Given the description of an element on the screen output the (x, y) to click on. 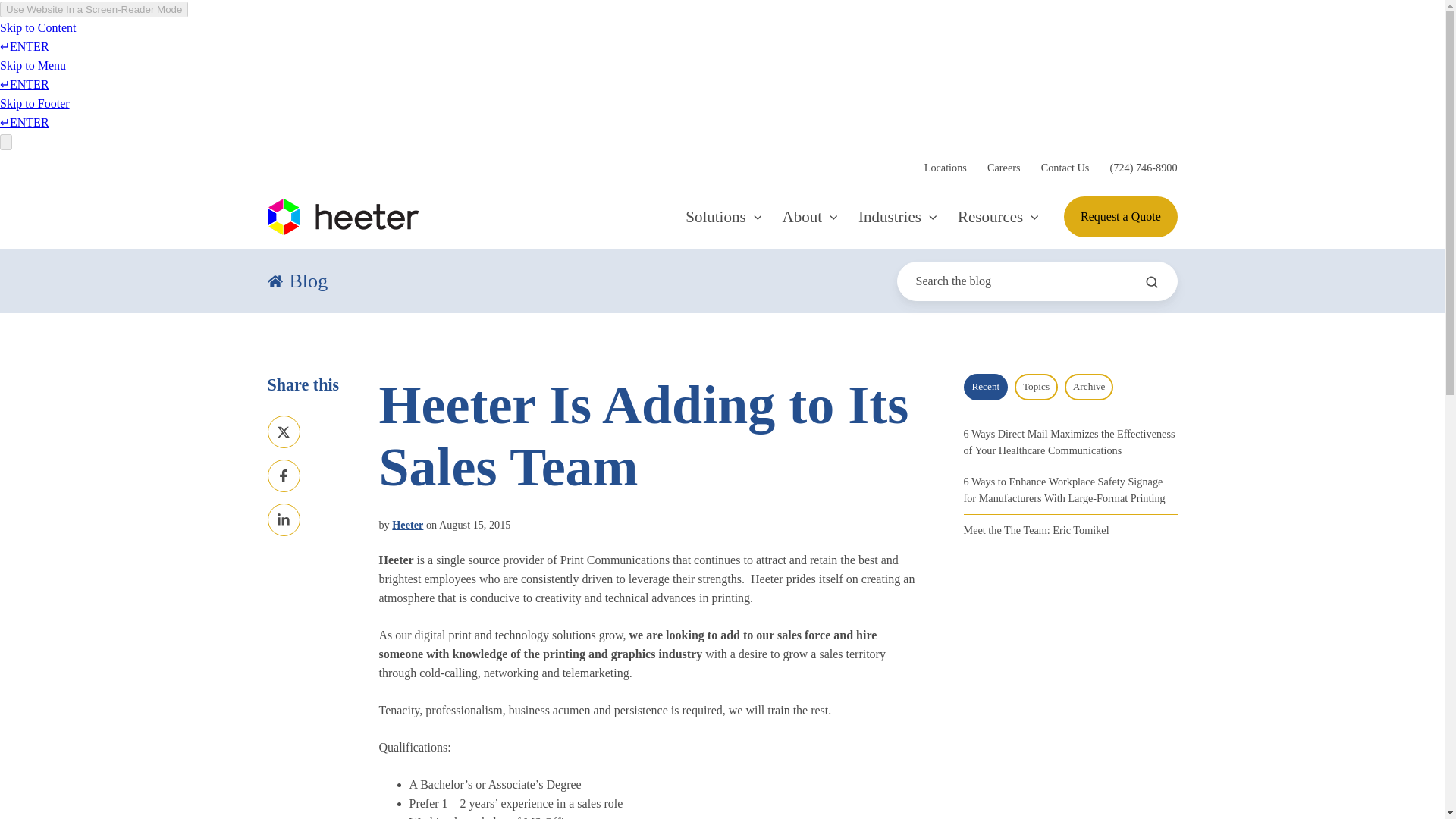
Heeter (342, 217)
About (811, 217)
Locations (945, 167)
Careers (1003, 167)
Contact Us (1065, 167)
Solutions (723, 217)
Resources (998, 217)
Industries (898, 217)
